Given the description of an element on the screen output the (x, y) to click on. 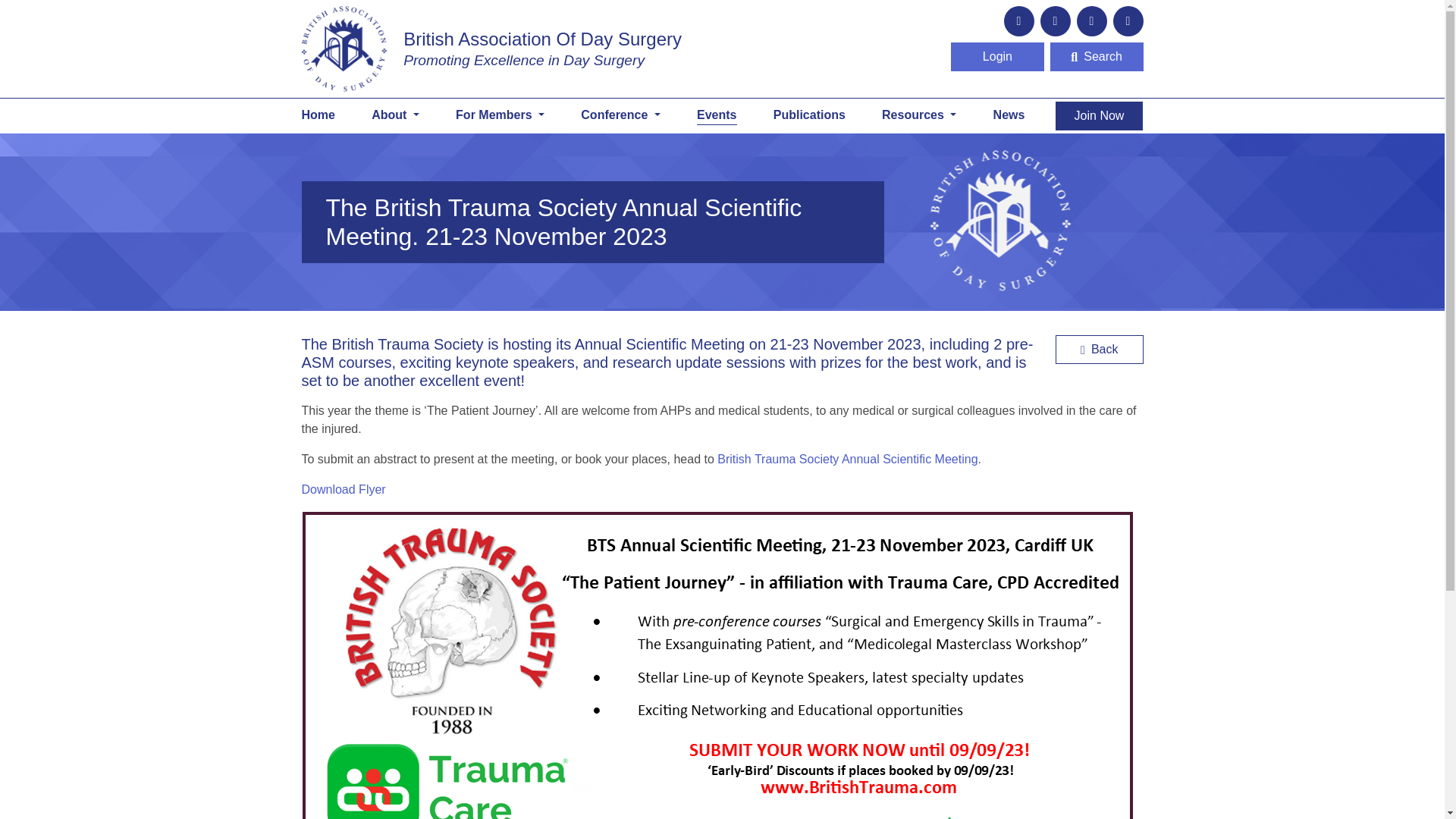
For Members (499, 115)
Conference (620, 115)
Home (491, 48)
About (395, 115)
Follow us on Facebook (1127, 20)
Search (1095, 56)
Follow us on Twitter (1055, 20)
Email us (1018, 20)
Follow us on LinkedIn (1091, 20)
For Members (499, 115)
